Given the description of an element on the screen output the (x, y) to click on. 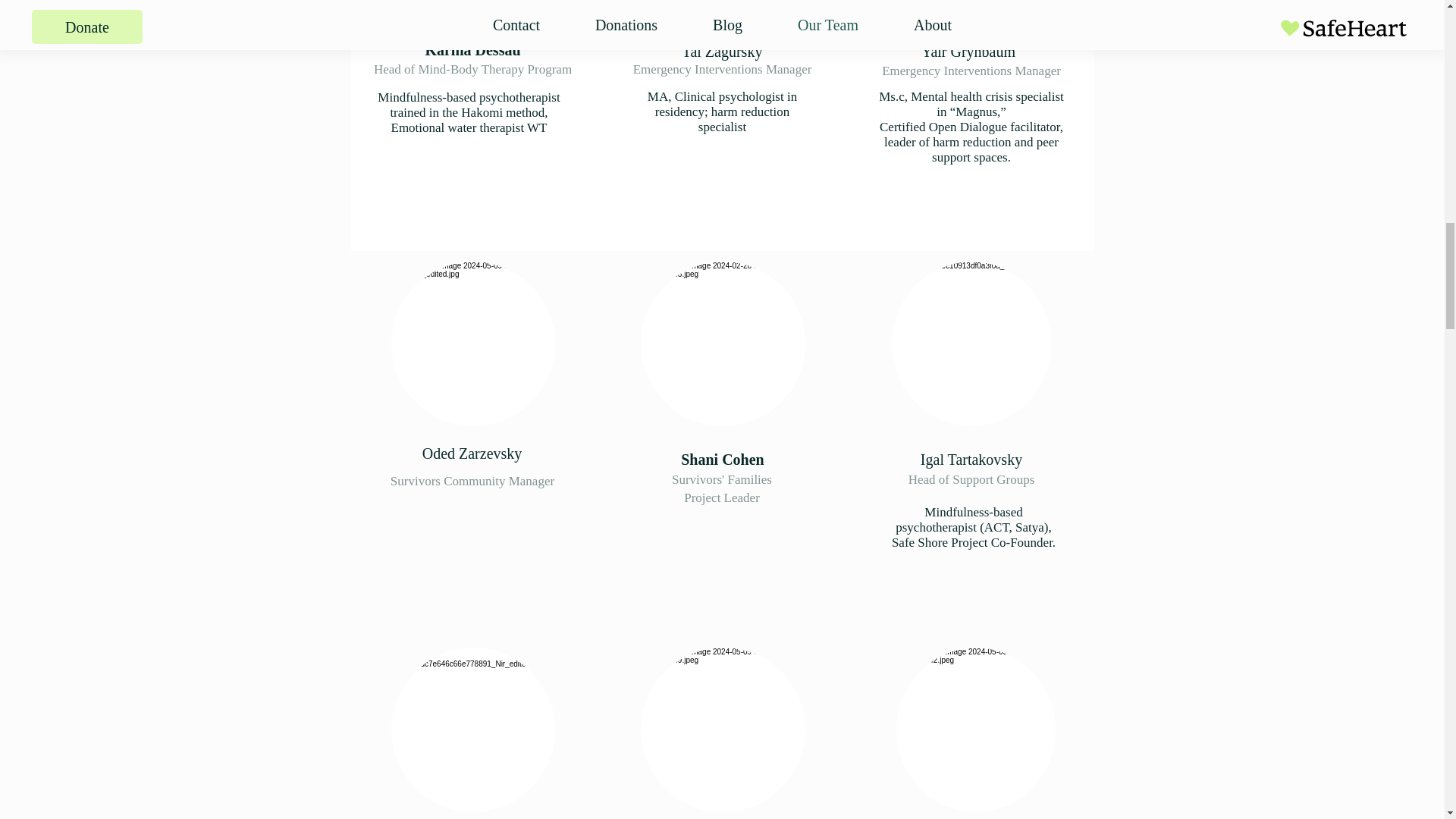
guy3.jpg (971, 343)
guy3.jpg (722, 343)
guy3.jpg (473, 9)
guy4.jpg (472, 729)
guy4.jpg (472, 343)
guy4.jpg (721, 9)
guy3.jpg (722, 729)
guy3.jpg (970, 9)
guy3.jpg (975, 729)
